Given the description of an element on the screen output the (x, y) to click on. 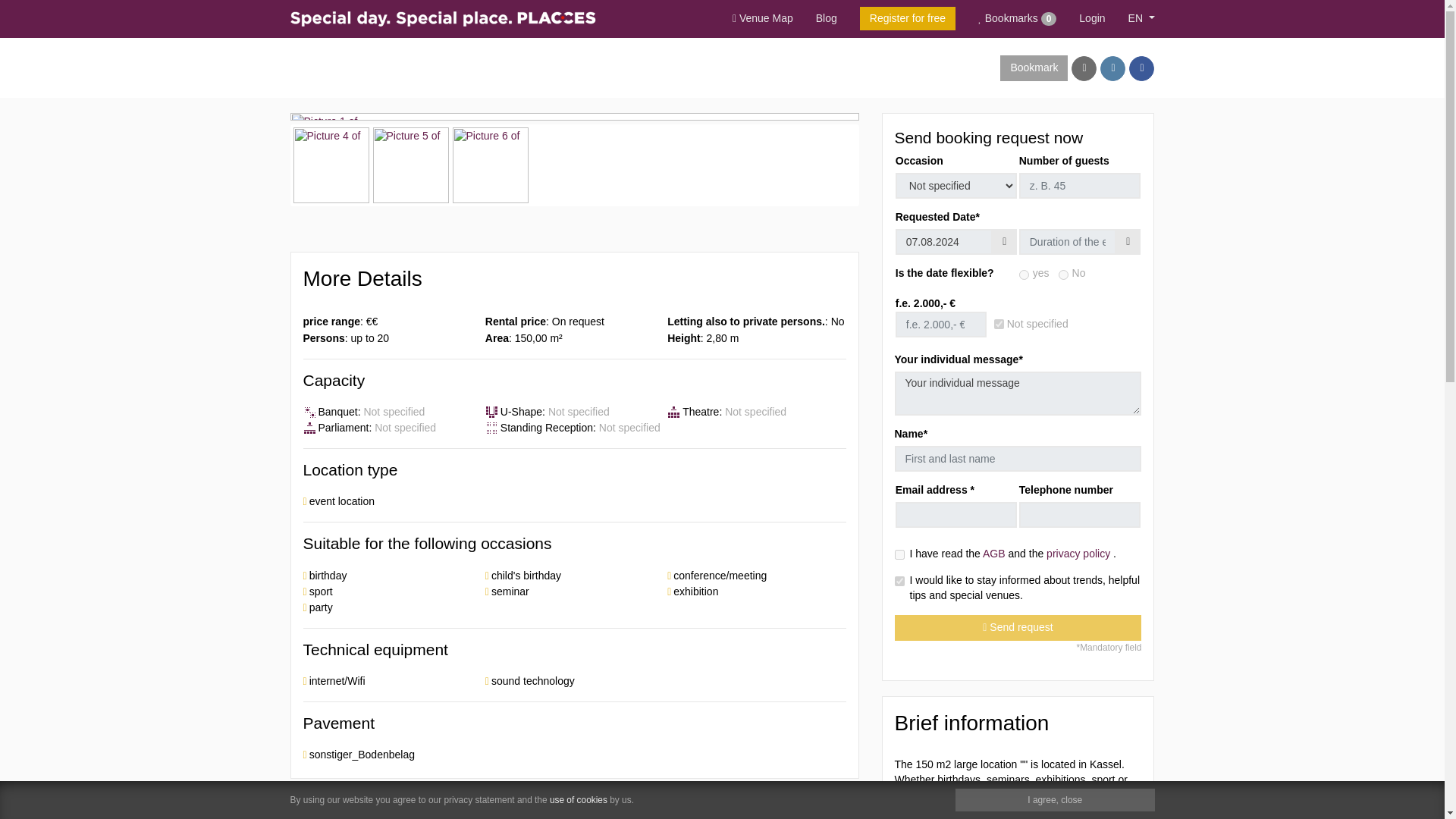
PLACCES Blog (826, 19)
Share on Facebook (1141, 68)
Register for free (907, 18)
Sprache wechseln (1141, 19)
Bookmarks 0 (1016, 19)
1 (1024, 275)
Send request (1018, 627)
Share by email (1083, 68)
Blog (826, 19)
Bookmark (1033, 68)
